Given the description of an element on the screen output the (x, y) to click on. 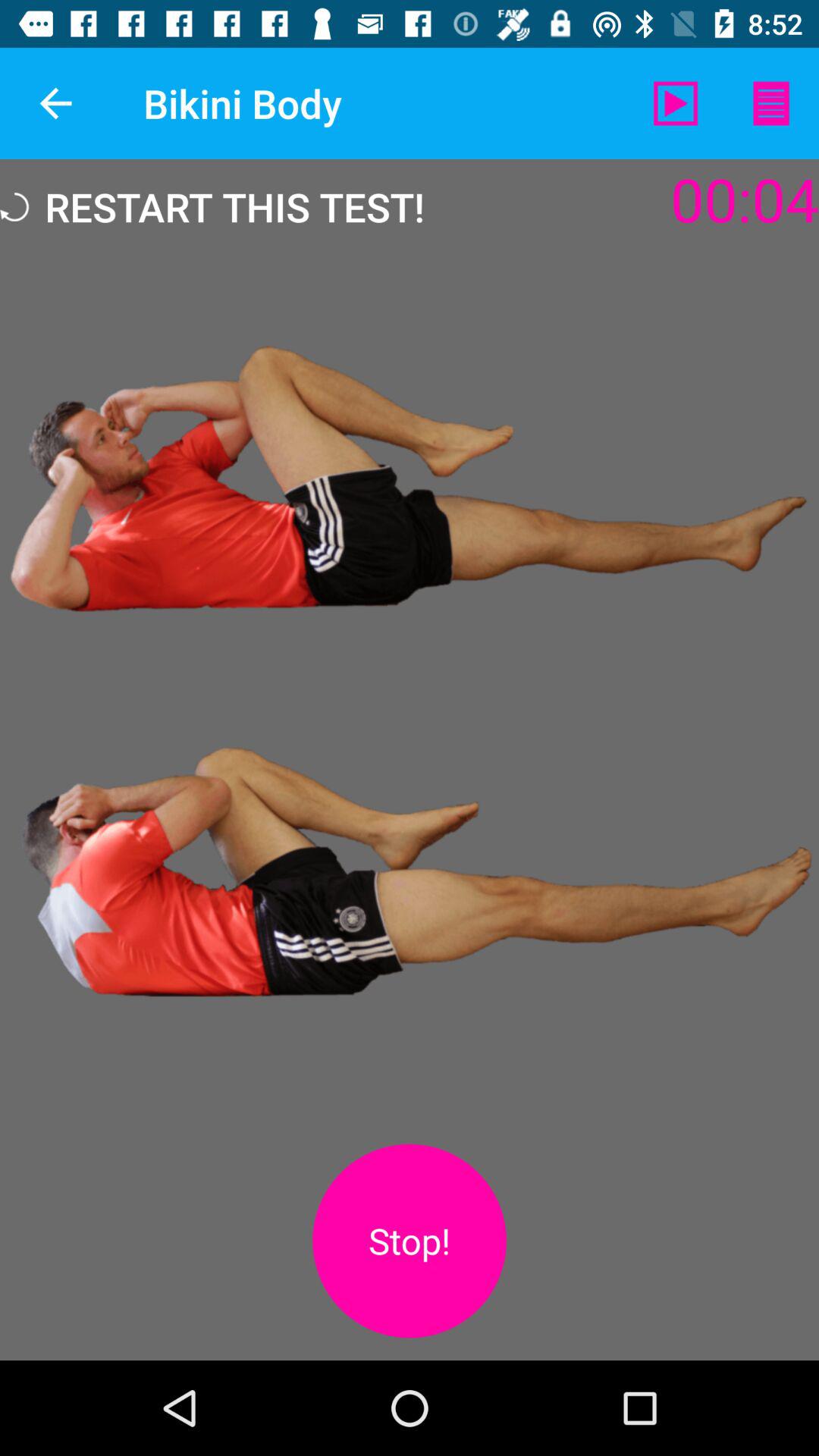
swipe until restart this test! icon (212, 206)
